Given the description of an element on the screen output the (x, y) to click on. 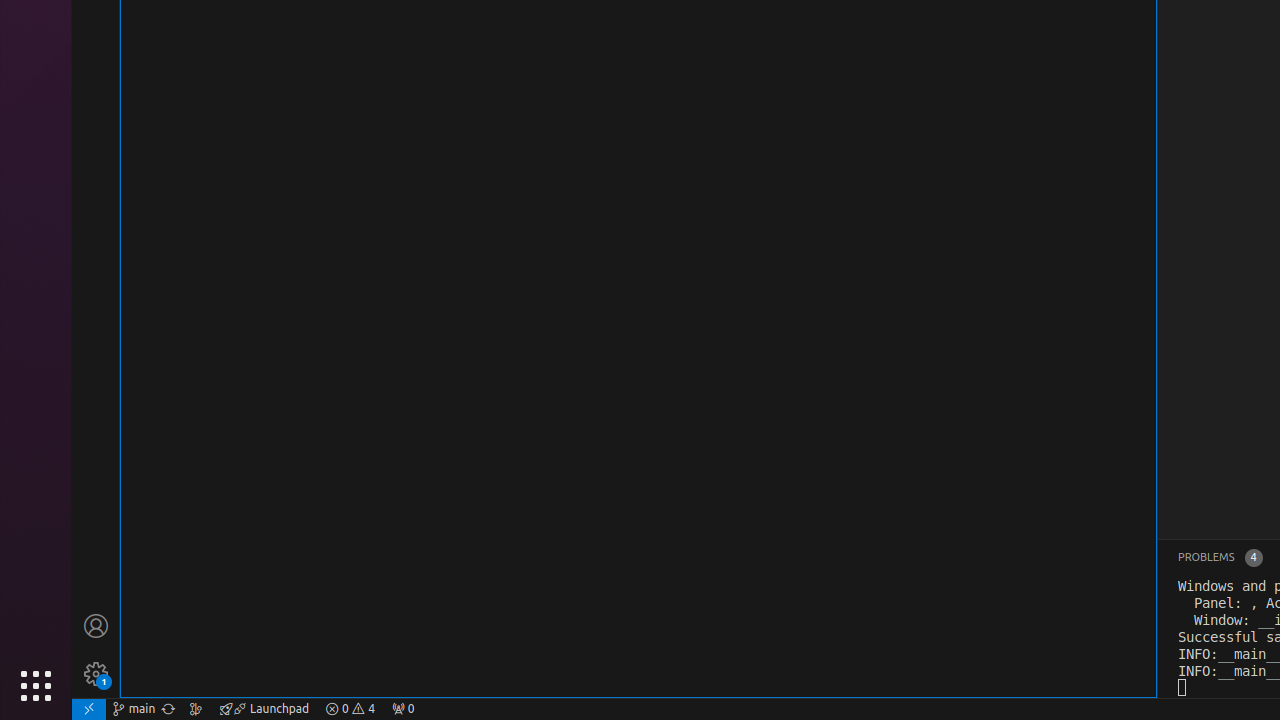
Manage - New Code update available. Element type: push-button (96, 674)
OSWorld (Git) - Synchronize Changes Element type: push-button (168, 709)
Show the GitLens Commit Graph Element type: push-button (196, 709)
rocket gitlens-unplug Launchpad, GitLens Launchpad ᴘʀᴇᴠɪᴇᴡ    &mdash;    [$(question)](command:gitlens.launchpad.indicator.action?%22info%22 "What is this?") [$(gear)](command:workbench.action.openSettings?%22gitlens.launchpad%22 "Settings")  |  [$(circle-slash) Hide](command:gitlens.launchpad.indicator.action?%22hide%22 "Hide") --- [Launchpad](command:gitlens.launchpad.indicator.action?%info%22 "Learn about Launchpad") organizes your pull requests into actionable groups to help you focus and keep your team unblocked. It's always accessible using the `GitLens: Open Launchpad` command from the Command Palette. --- [Connect an integration](command:gitlens.showLaunchpad?%7B%22source%22%3A%22launchpad-indicator%22%7D "Connect an integration") to get started. Element type: push-button (264, 709)
Accounts Element type: push-button (96, 626)
